Given the description of an element on the screen output the (x, y) to click on. 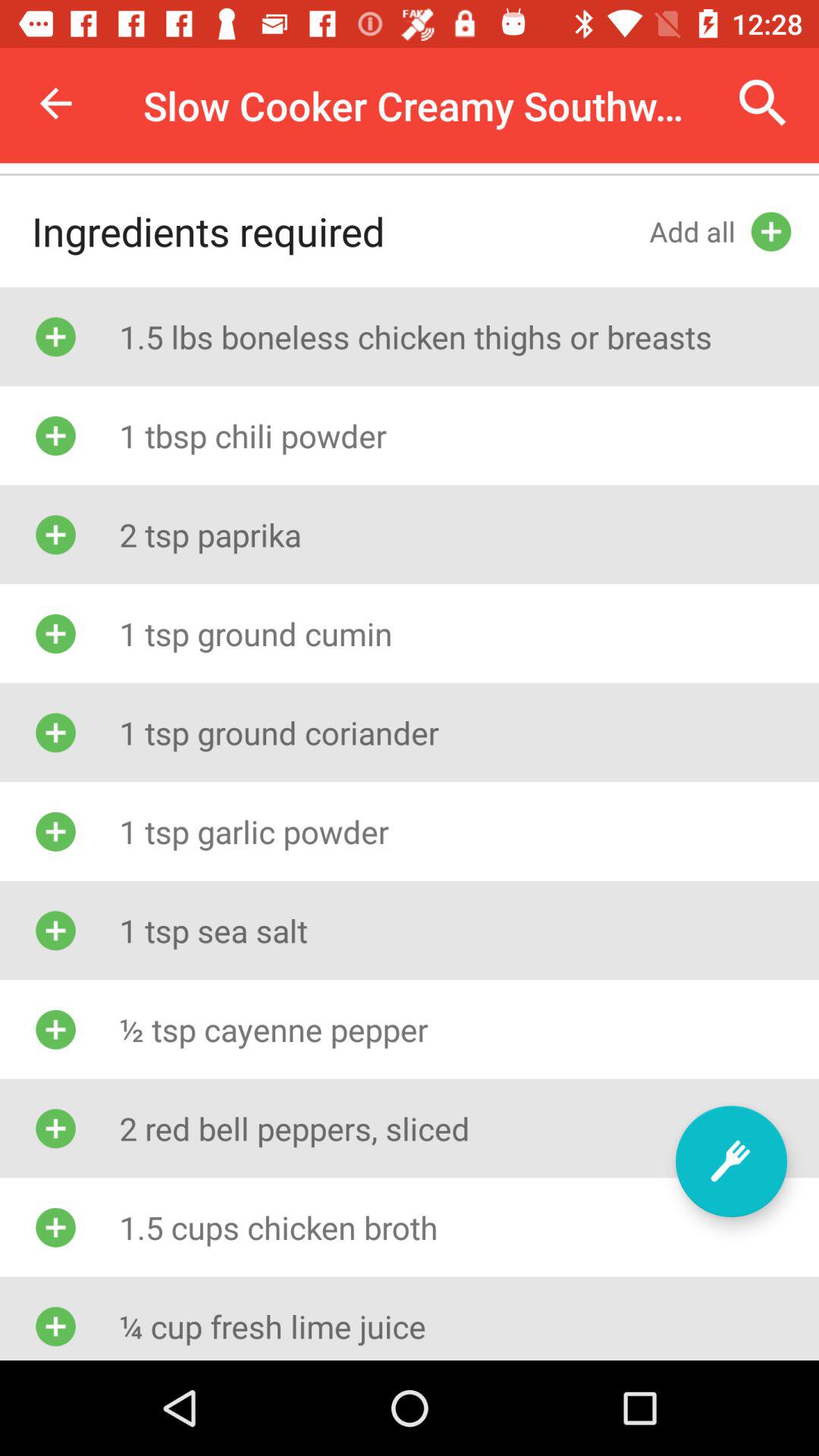
more recipe options (731, 1161)
